Given the description of an element on the screen output the (x, y) to click on. 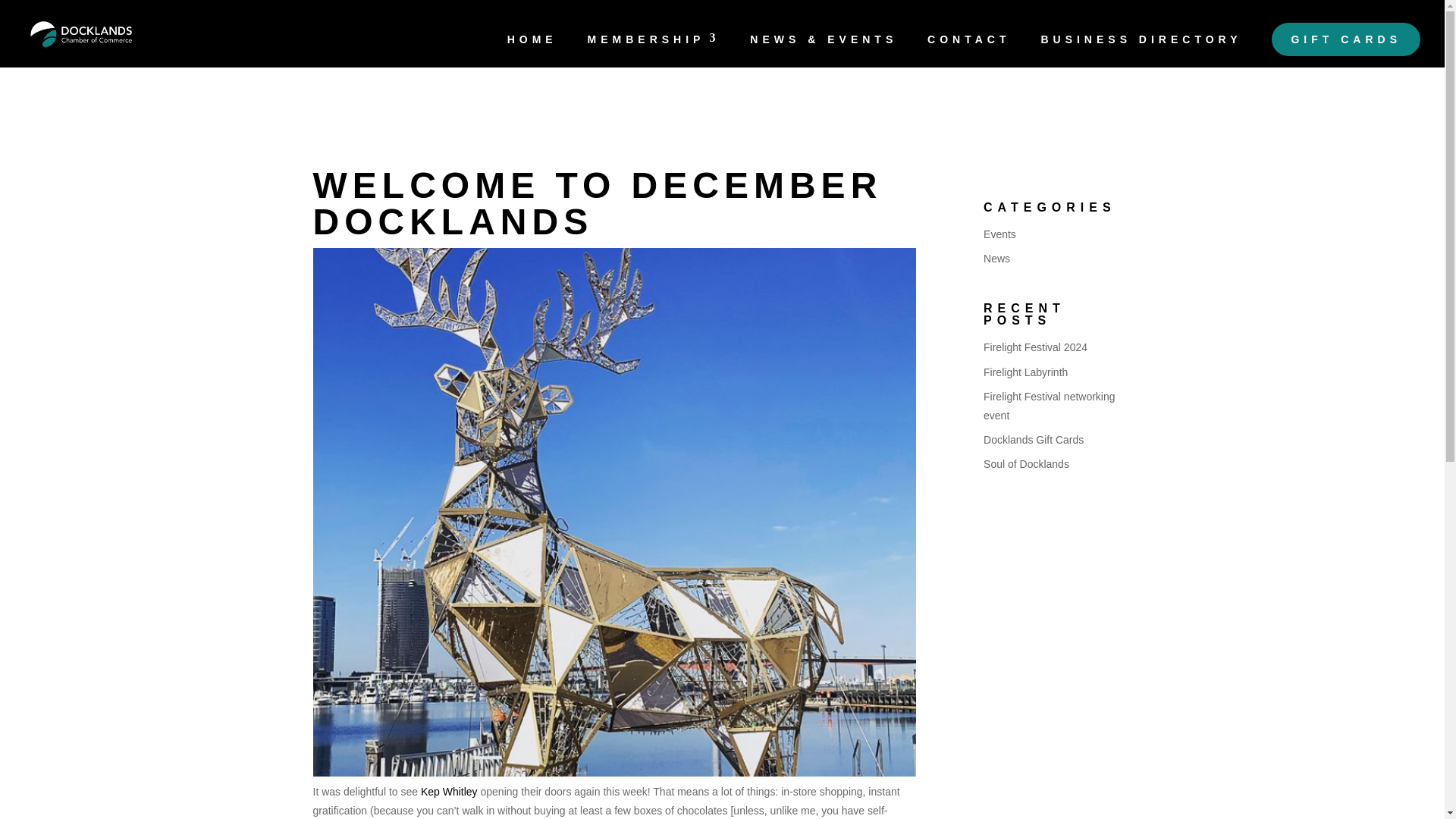
Soul of Docklands (1026, 463)
MEMBERSHIP (654, 50)
Firelight Festival networking event (1049, 405)
News (997, 258)
CONTACT (968, 50)
Events (1000, 234)
Kep Whitley (448, 791)
Firelight Festival 2024 (1035, 346)
GIFT CARDS (1346, 39)
HOME (531, 50)
